Given the description of an element on the screen output the (x, y) to click on. 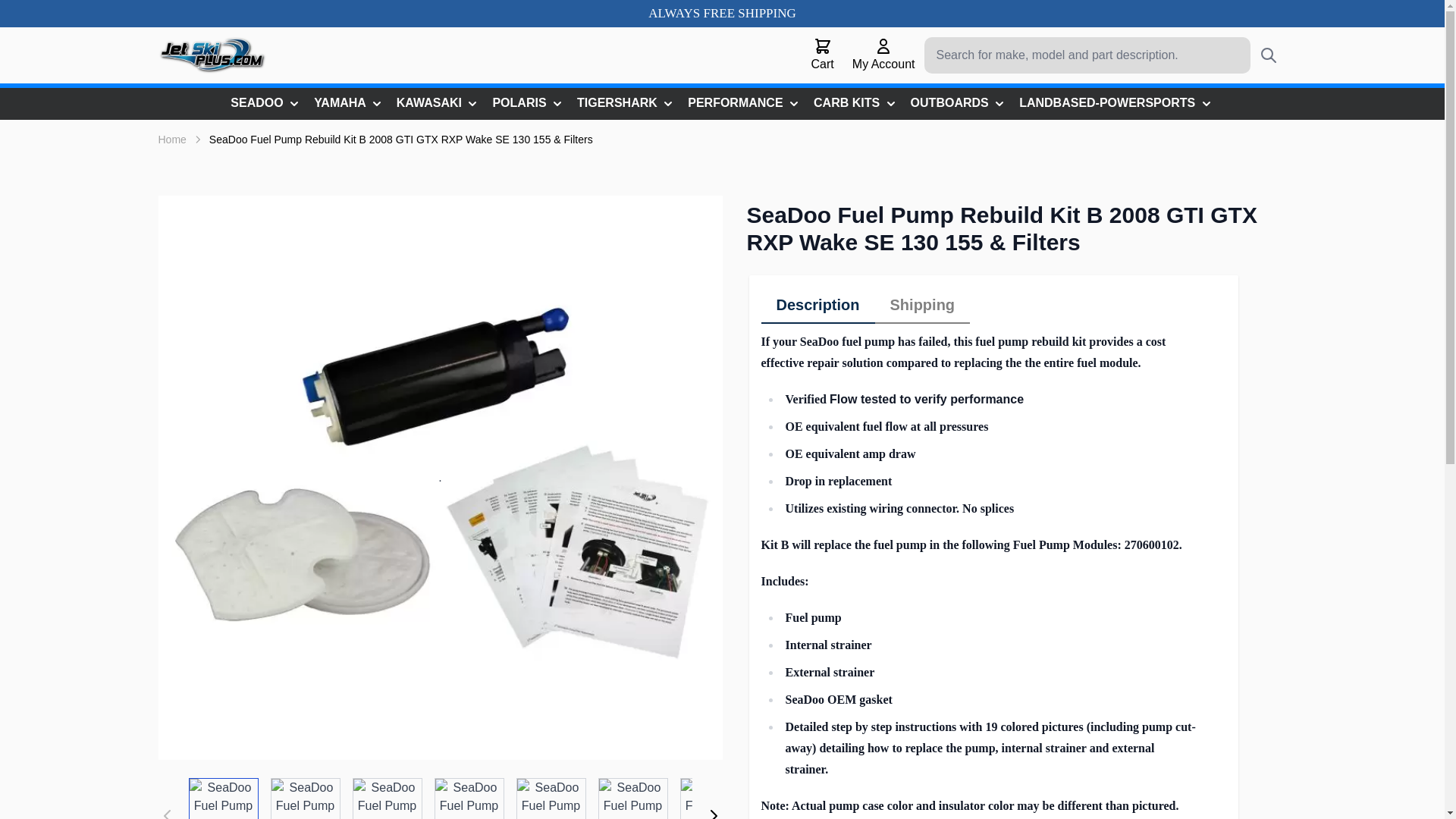
CHEVRON-DOWN (794, 103)
CHEVRON-DOWN (557, 103)
CHEVRON-DOWN (293, 103)
CHEVRON-DOWN (376, 103)
CHEVRON-DOWN (668, 103)
CHEVRON-DOWN (999, 103)
CHEVRON-DOWN (890, 103)
CHEVRON-DOWN (1206, 103)
CHEVRON-DOWN (472, 103)
